Given the description of an element on the screen output the (x, y) to click on. 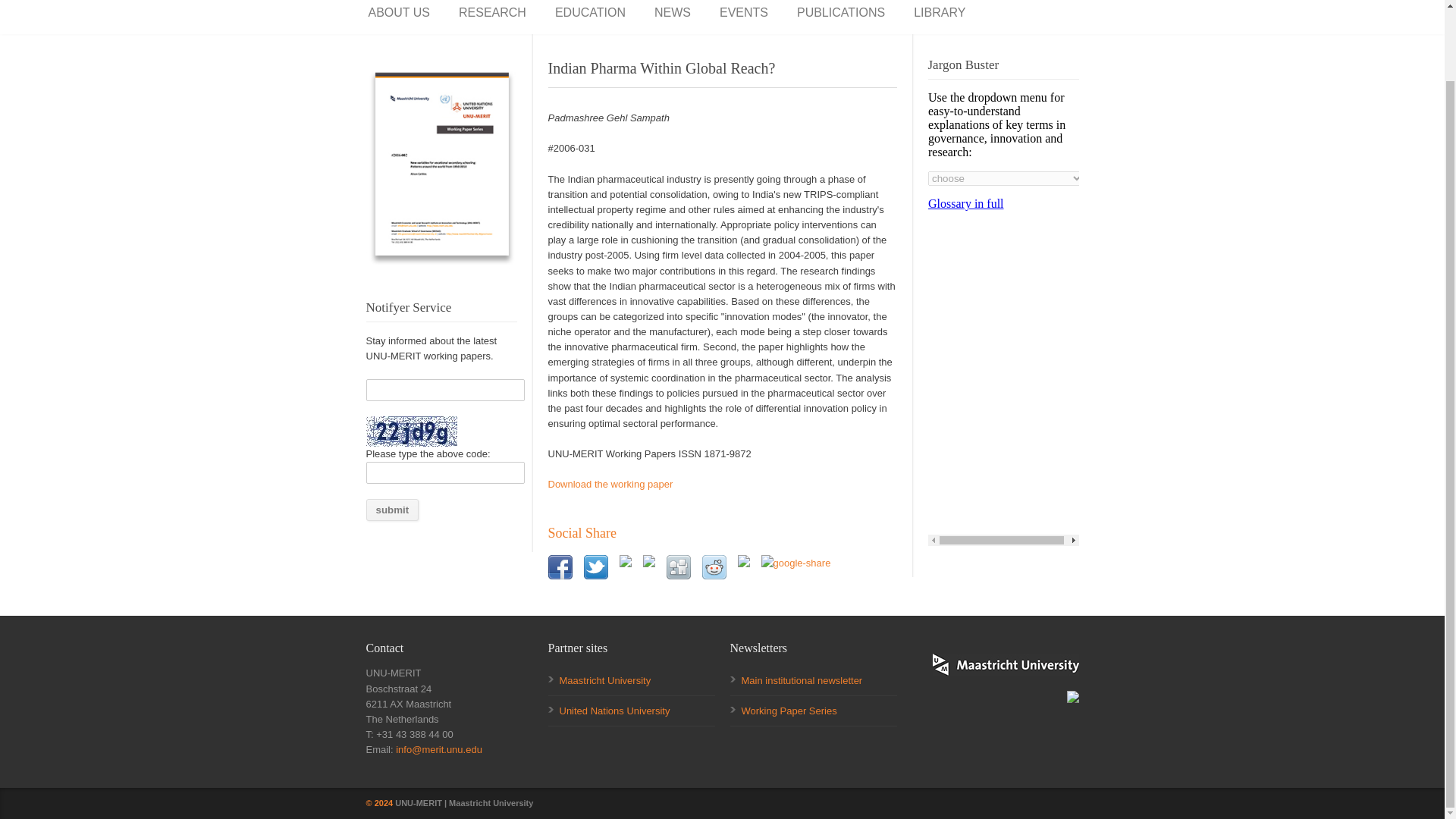
RESEARCH (492, 13)
EDUCATION (590, 13)
ABOUT US (400, 13)
submit (392, 509)
